Given the description of an element on the screen output the (x, y) to click on. 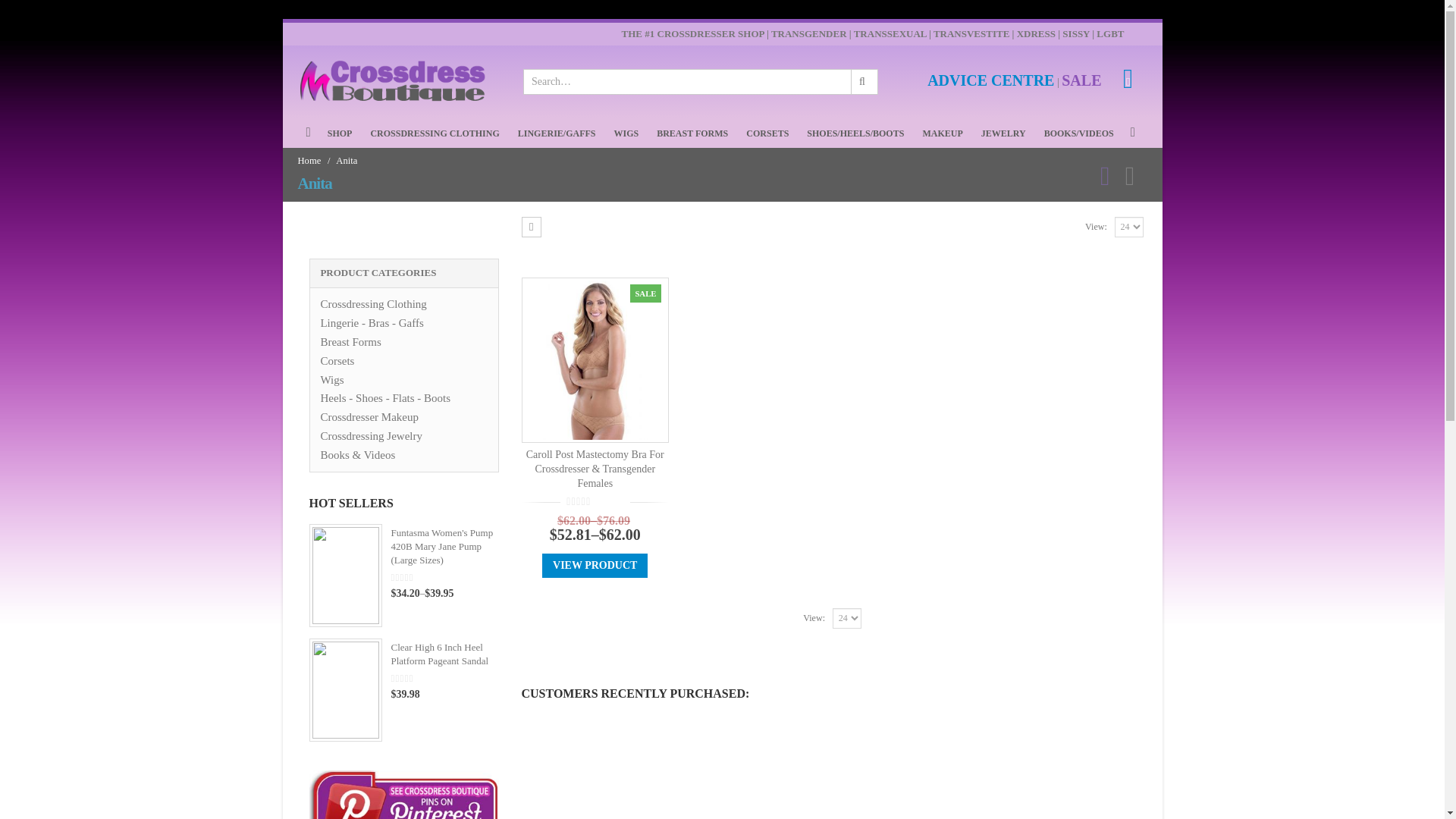
0 (595, 501)
WIGS (625, 132)
CROSSDRESSING CLOTHING (433, 132)
ADVICE CENTRE (990, 81)
SHOP (339, 132)
SALE (1080, 81)
Grid View (531, 227)
Search (862, 81)
